Given the description of an element on the screen output the (x, y) to click on. 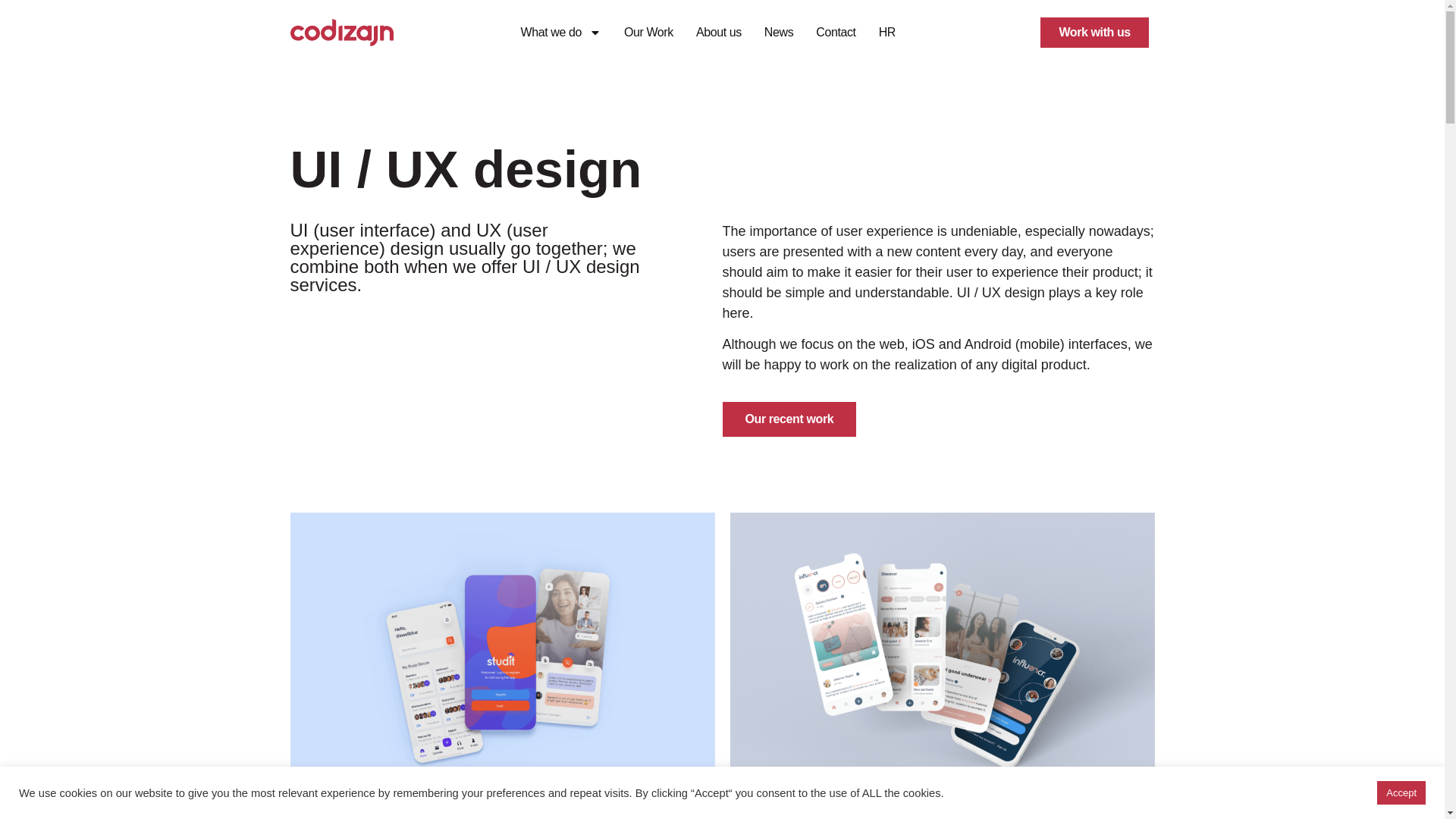
What we do (559, 32)
About us (718, 32)
Our Work (648, 32)
Contact (835, 32)
Work with us (1094, 32)
